Given the description of an element on the screen output the (x, y) to click on. 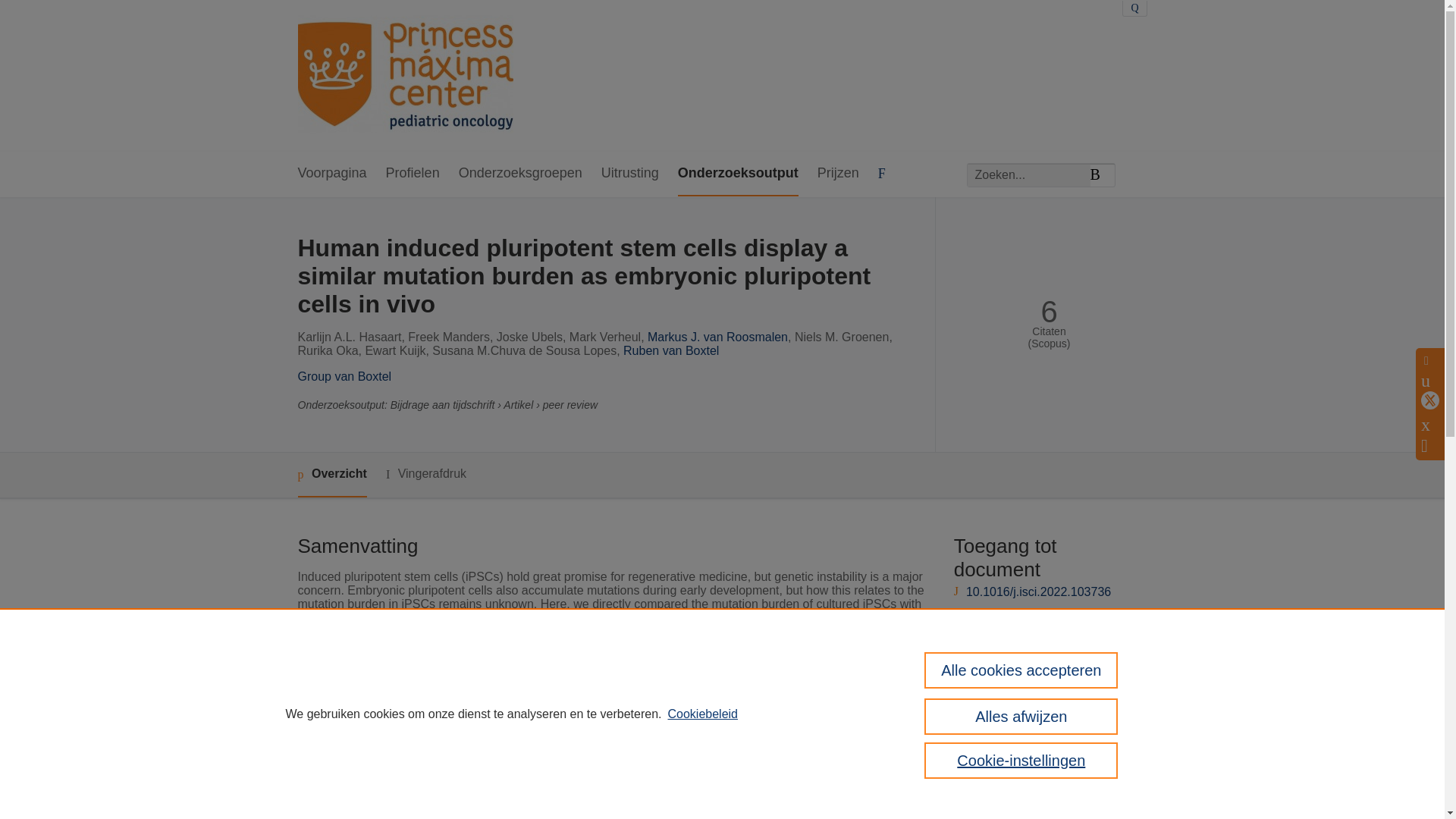
Prijzen (837, 173)
Group van Boxtel (344, 376)
Vingerafdruk (425, 474)
Onderzoeksgroepen (520, 173)
Voorpagina (331, 173)
Uitrusting (630, 173)
Onderzoeksoutput (737, 173)
iScience (535, 758)
Profielen (412, 173)
Ruben van Boxtel (671, 350)
Overzicht (331, 474)
Markus J. van Roosmalen (717, 336)
